Given the description of an element on the screen output the (x, y) to click on. 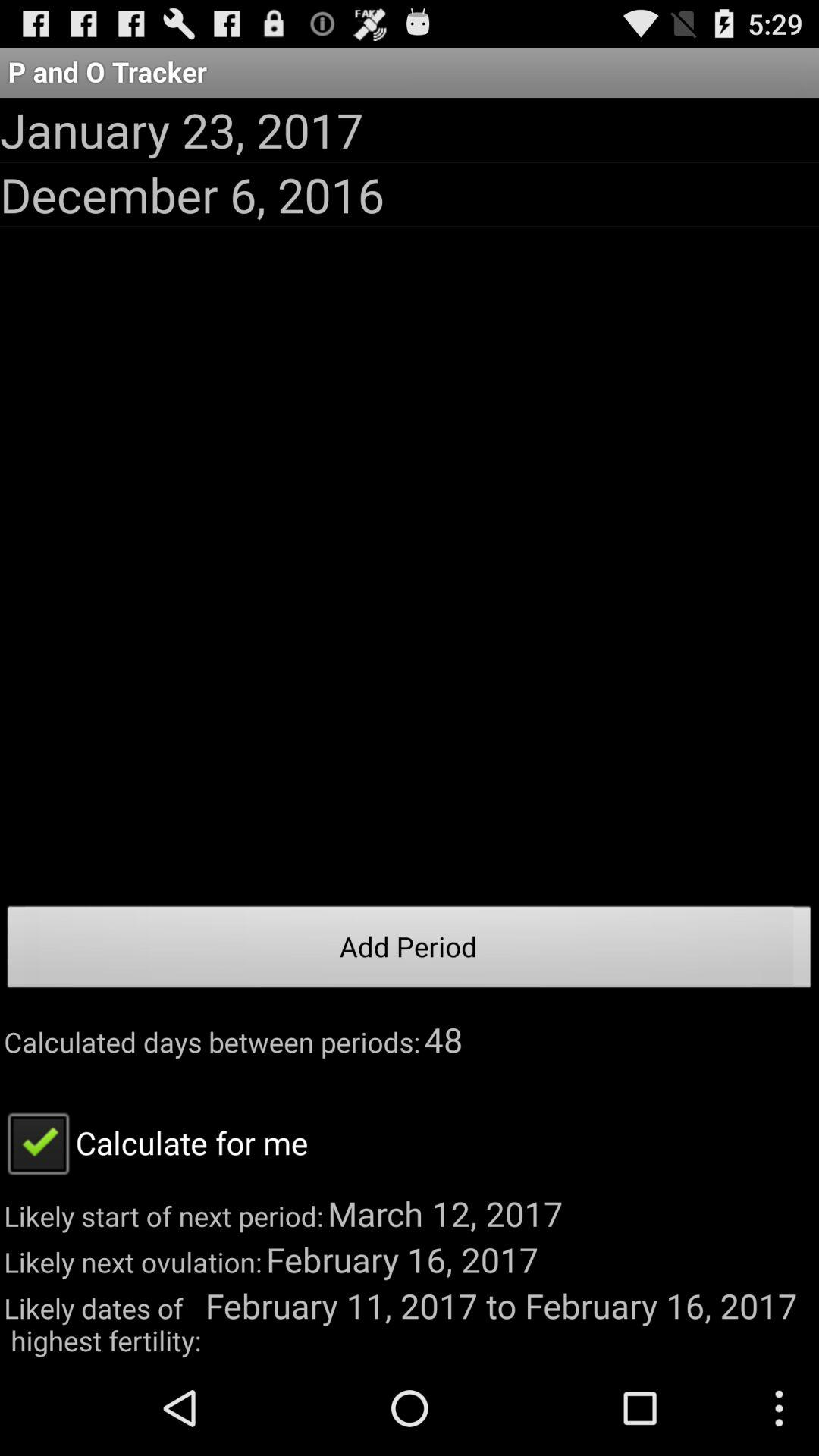
select app below the p and o app (181, 129)
